Given the description of an element on the screen output the (x, y) to click on. 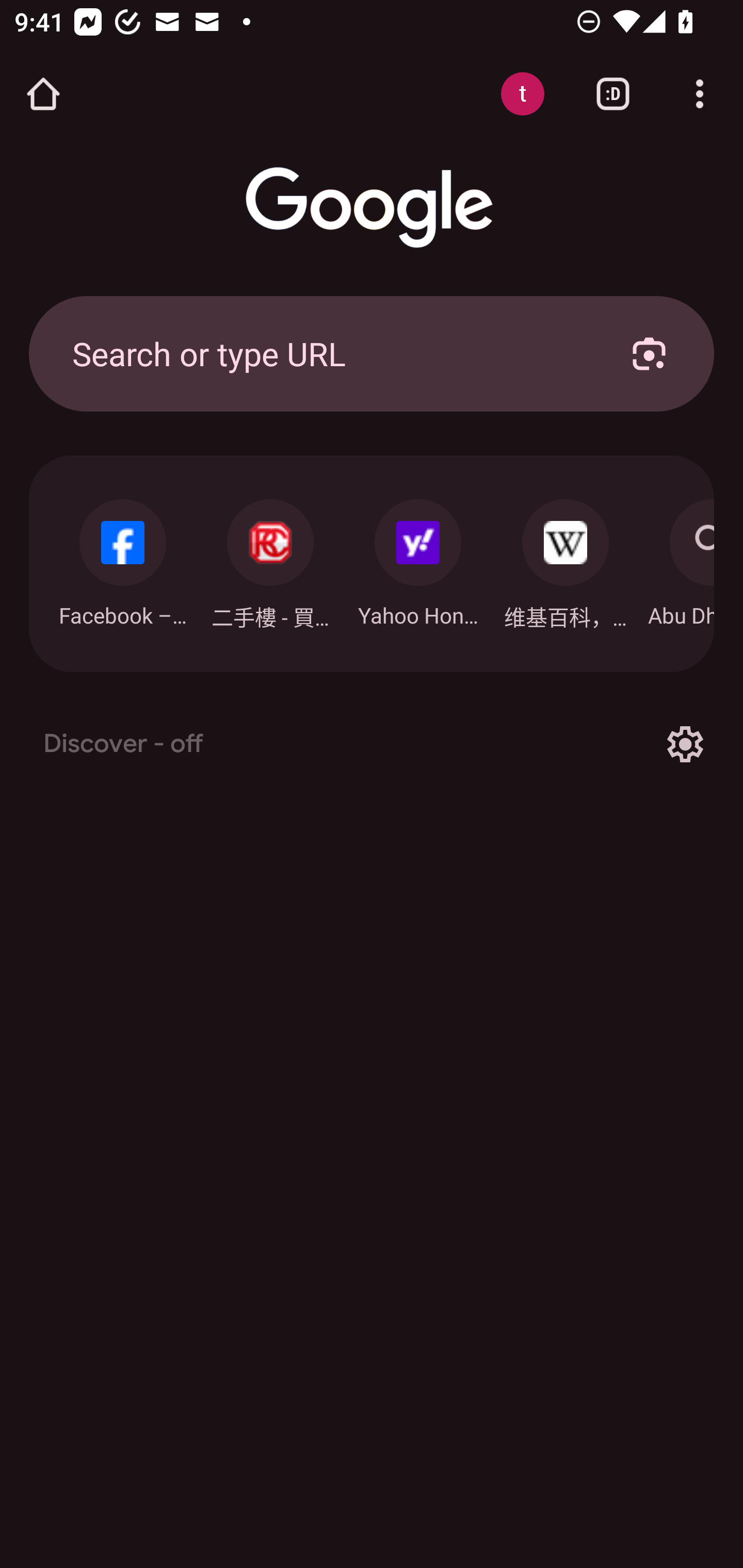
Open the home page (43, 93)
Switch or close tabs (612, 93)
Customize and control Google Chrome (699, 93)
Search or type URL (327, 353)
Search with your camera using Google Lens (648, 353)
Options for Discover (684, 743)
